Given the description of an element on the screen output the (x, y) to click on. 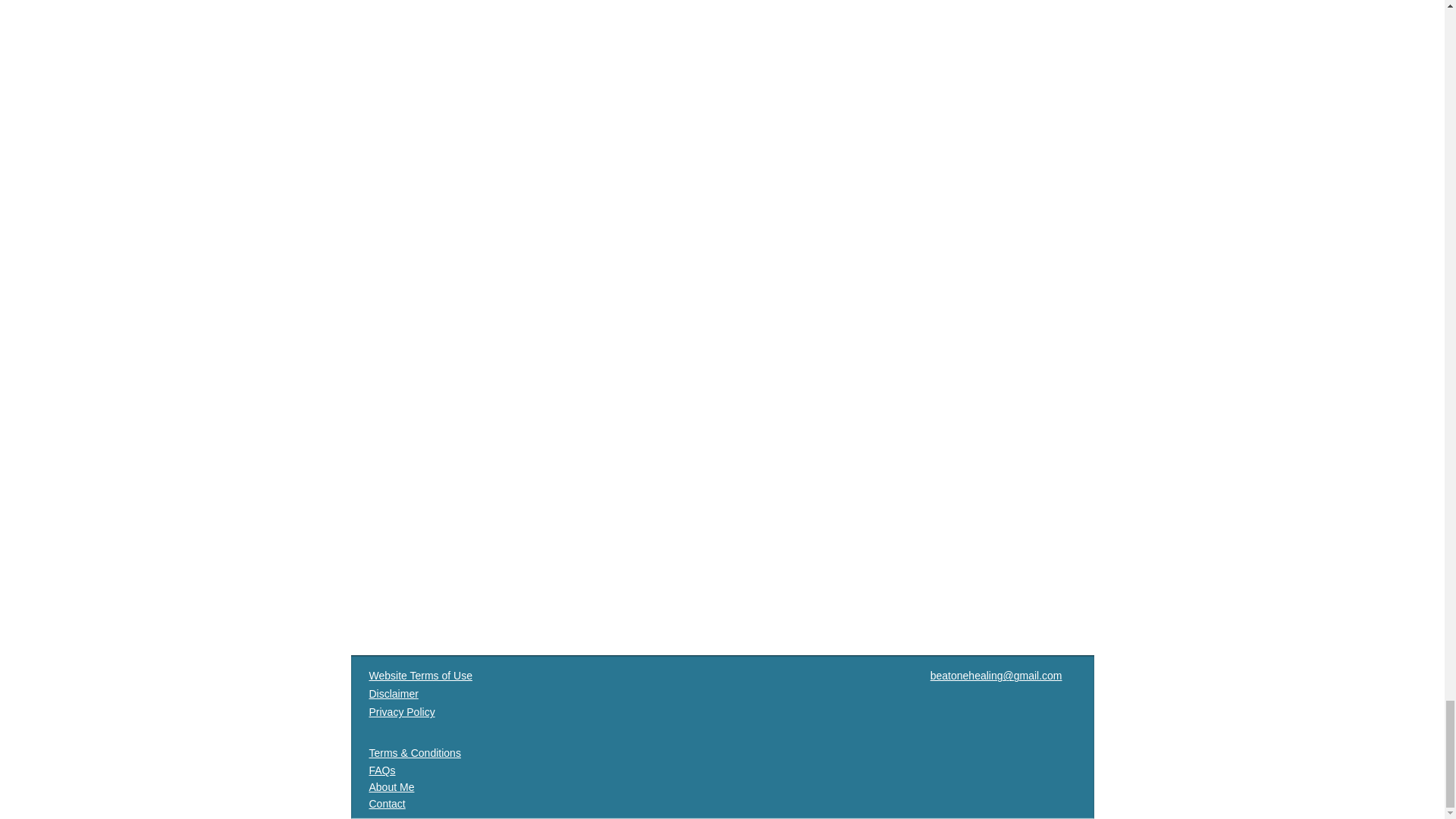
Privacy Policy (400, 711)
Website Terms of Use (419, 675)
Disclaimer (392, 693)
